Given the description of an element on the screen output the (x, y) to click on. 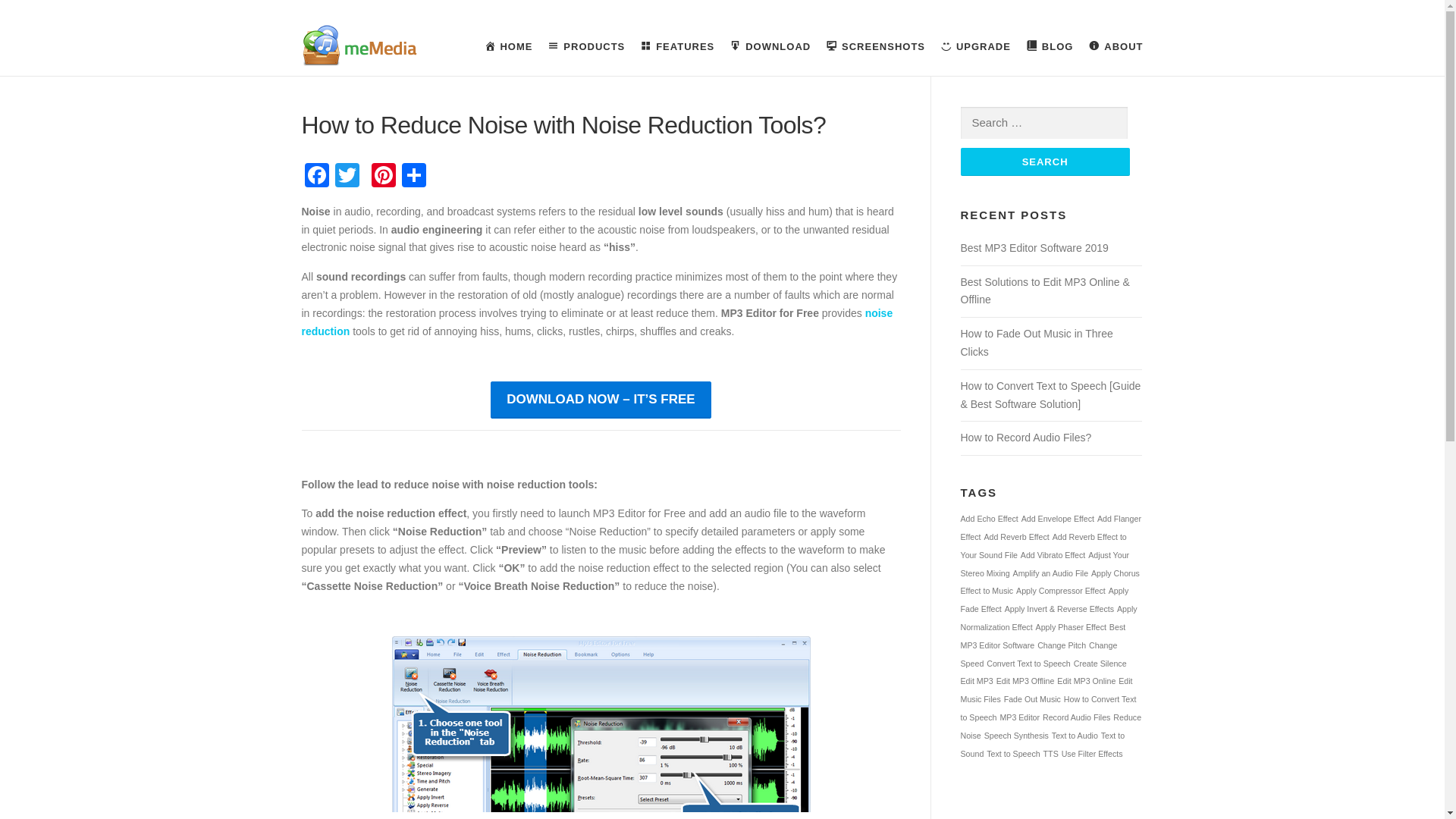
Pinterest (383, 176)
Pinterest (383, 176)
Best MP3 Editor Software 2019 (1033, 247)
UPGRADE (975, 47)
noise reduction (597, 322)
How to Fade Out Music in Three Clicks (1035, 342)
Search (1044, 162)
Skip to content (34, 27)
Reduce noise with noise reduction tools (600, 727)
Facebook (316, 176)
